Given the description of an element on the screen output the (x, y) to click on. 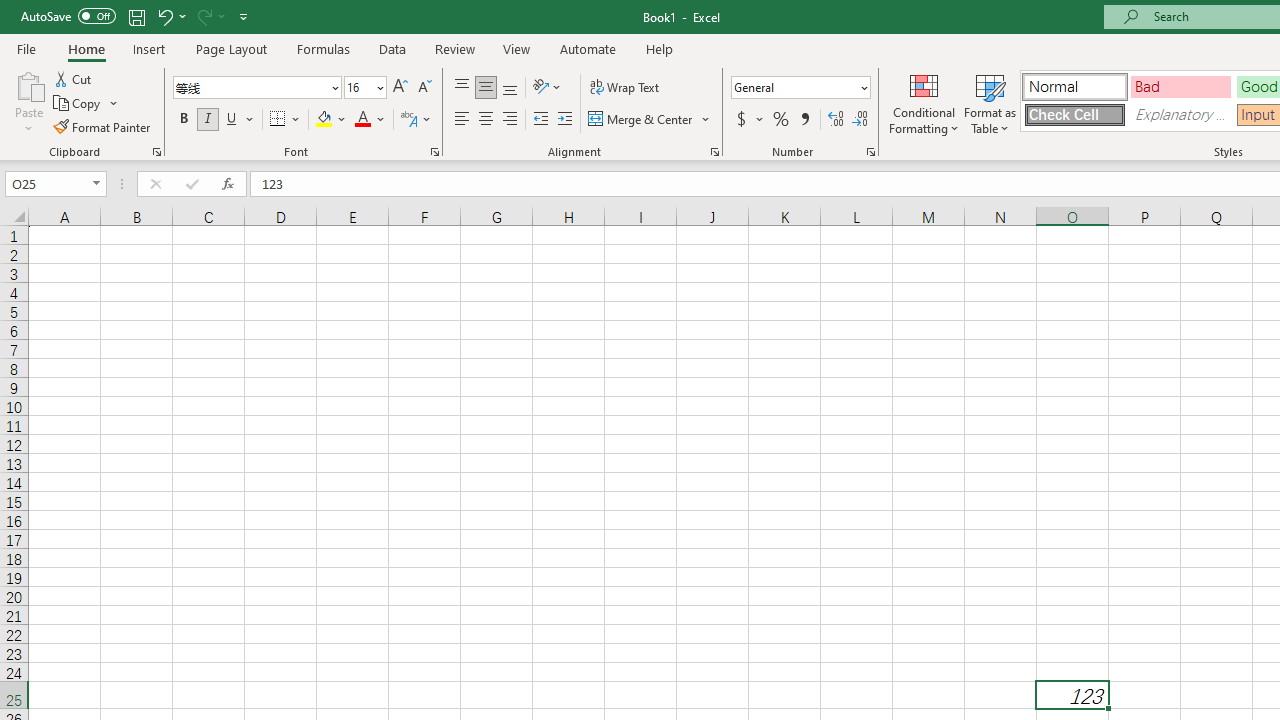
Bottom Border (278, 119)
Name Box (46, 183)
Align Right (509, 119)
Align Left (461, 119)
Page Layout (230, 48)
Customize Quick Access Toolbar (244, 15)
Format Painter (103, 126)
Save (136, 15)
Bottom Align (509, 87)
Underline (239, 119)
Format Cell Number (870, 151)
Open (96, 183)
Automate (588, 48)
File Tab (26, 48)
Office Clipboard... (156, 151)
